Given the description of an element on the screen output the (x, y) to click on. 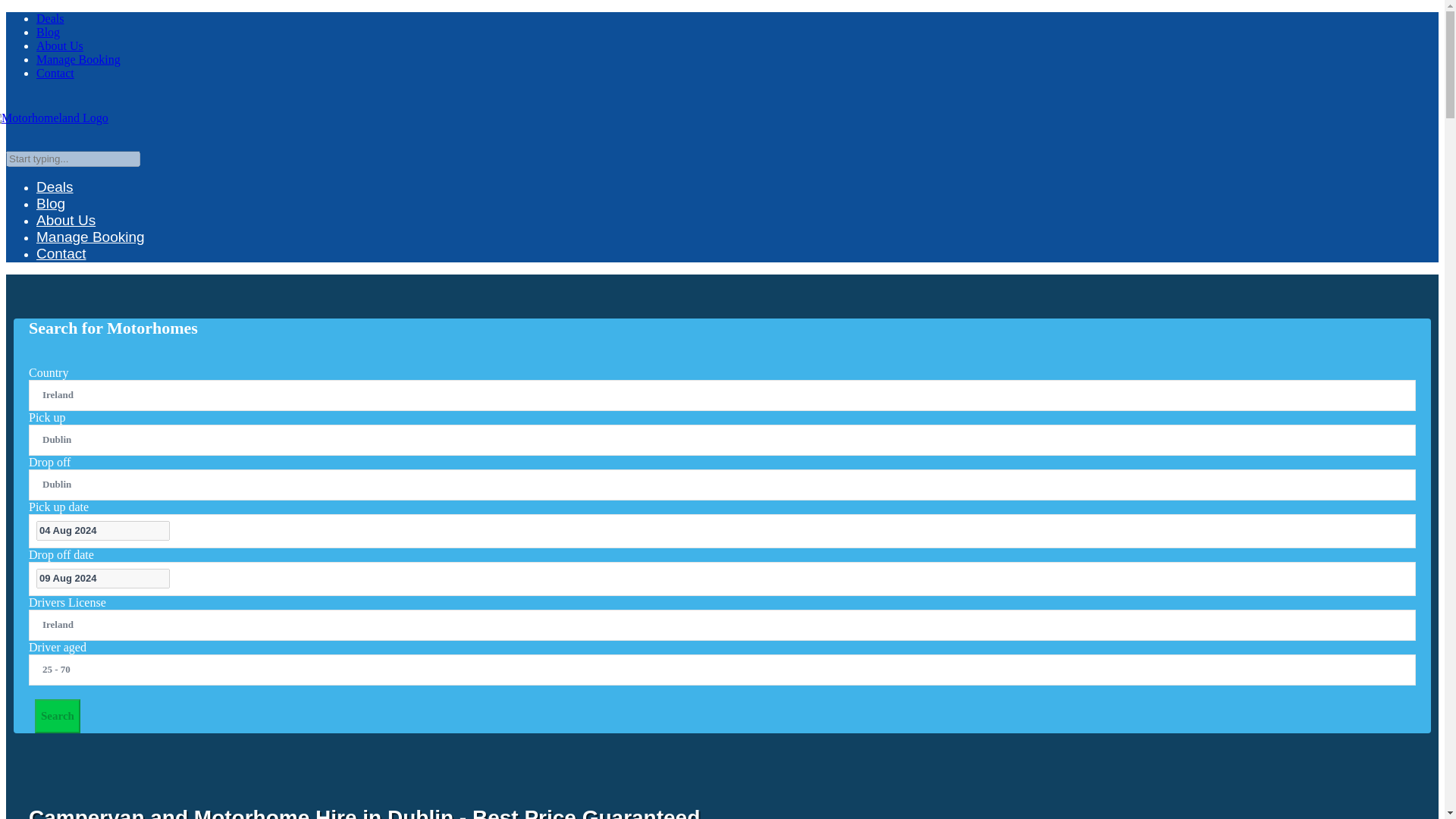
Blog (47, 31)
09 Aug 2024 (103, 578)
Contact (60, 272)
About Us (59, 45)
About Us (66, 239)
Blog (50, 222)
Deals (55, 205)
04 Aug 2024 (103, 529)
Contact (55, 72)
Deals (50, 18)
Manage Booking (78, 59)
Manage Booking (90, 255)
Search (57, 716)
